Given the description of an element on the screen output the (x, y) to click on. 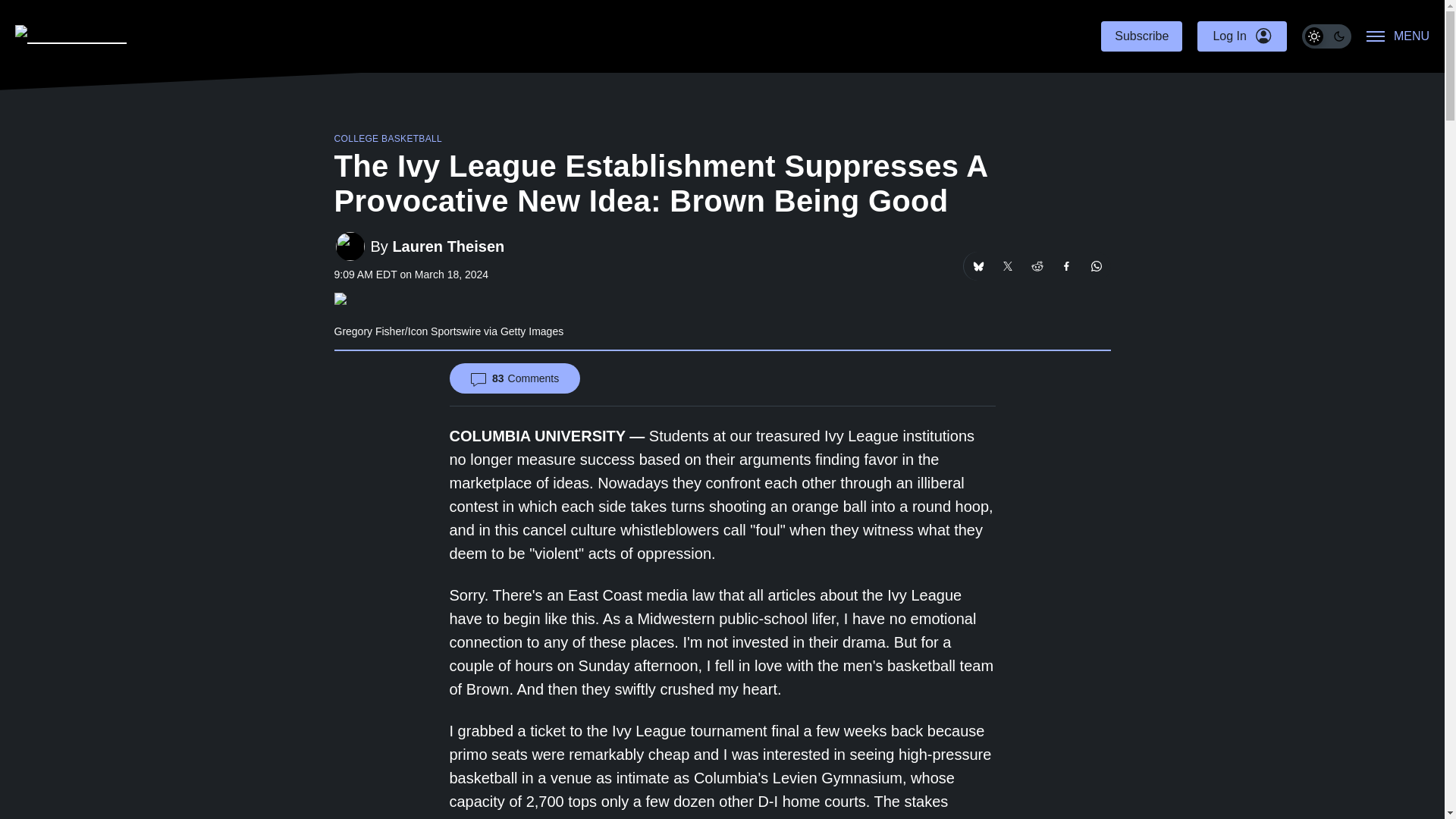
Share on Facebook (1066, 265)
Share on Bluesky (976, 265)
MENU (1398, 36)
Lauren Theisen (447, 246)
Log In (1240, 36)
COLLEGE BASKETBALL (387, 138)
Share on Reddit (1036, 265)
Subscribe (1141, 36)
